Given the description of an element on the screen output the (x, y) to click on. 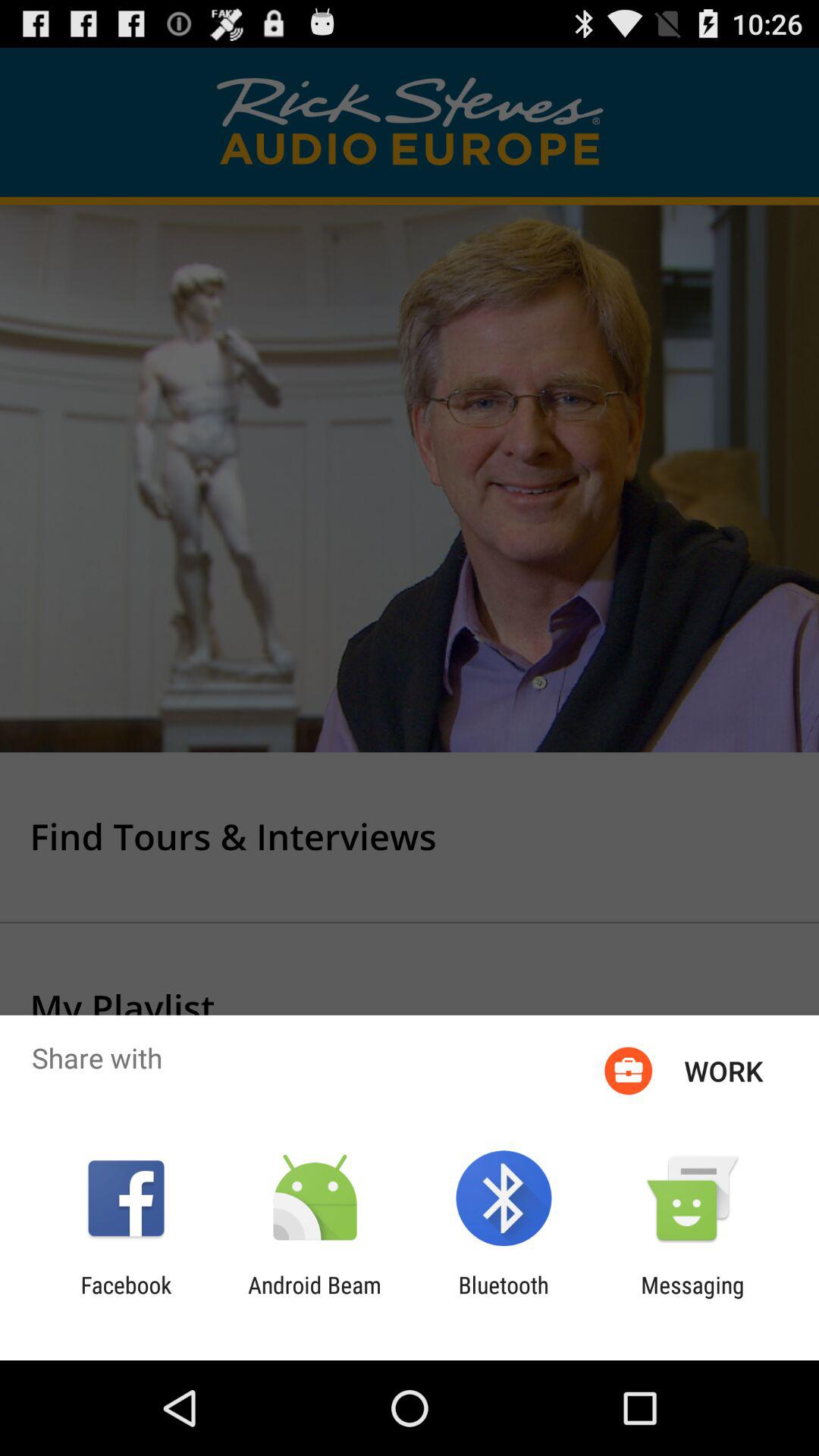
click app to the left of android beam app (125, 1298)
